Given the description of an element on the screen output the (x, y) to click on. 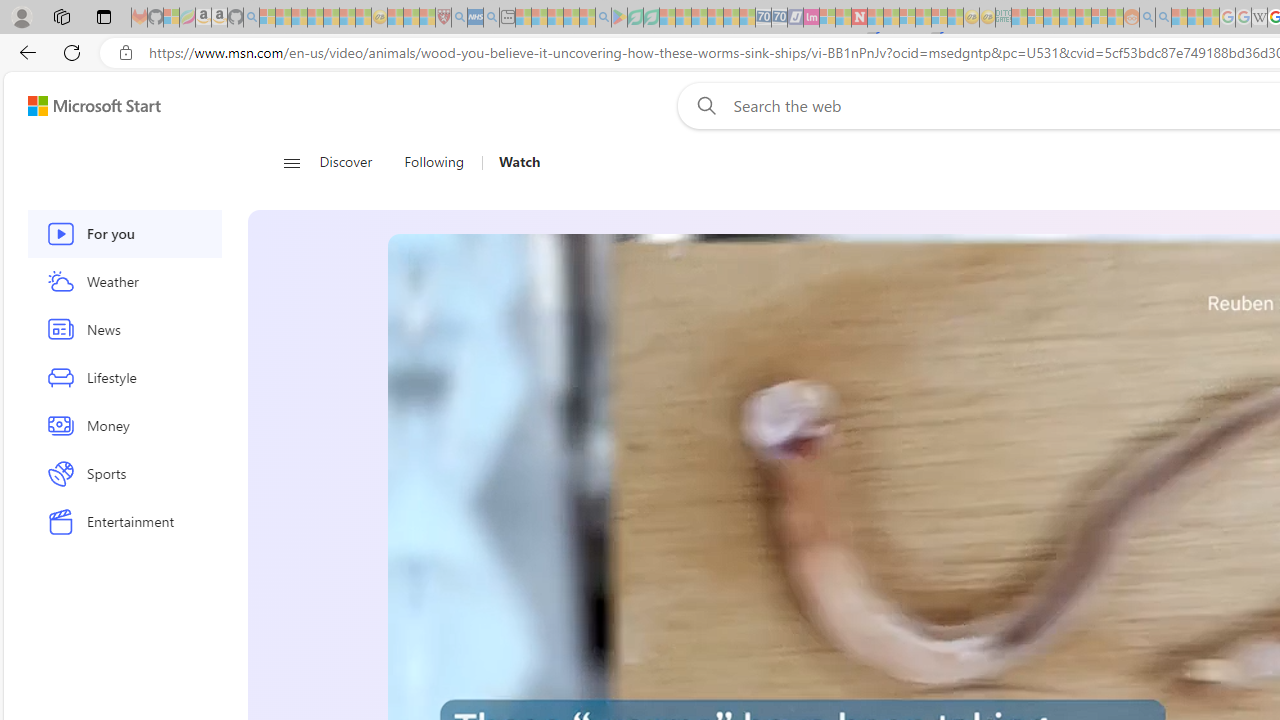
Cheap Hotels - Save70.com - Sleeping (779, 17)
Recipes - MSN - Sleeping (395, 17)
Target page - Wikipedia - Sleeping (1259, 17)
Latest Politics News & Archive | Newsweek.com - Sleeping (859, 17)
Skip to content (86, 105)
google - Search - Sleeping (603, 17)
The Weather Channel - MSN - Sleeping (299, 17)
